Given the description of an element on the screen output the (x, y) to click on. 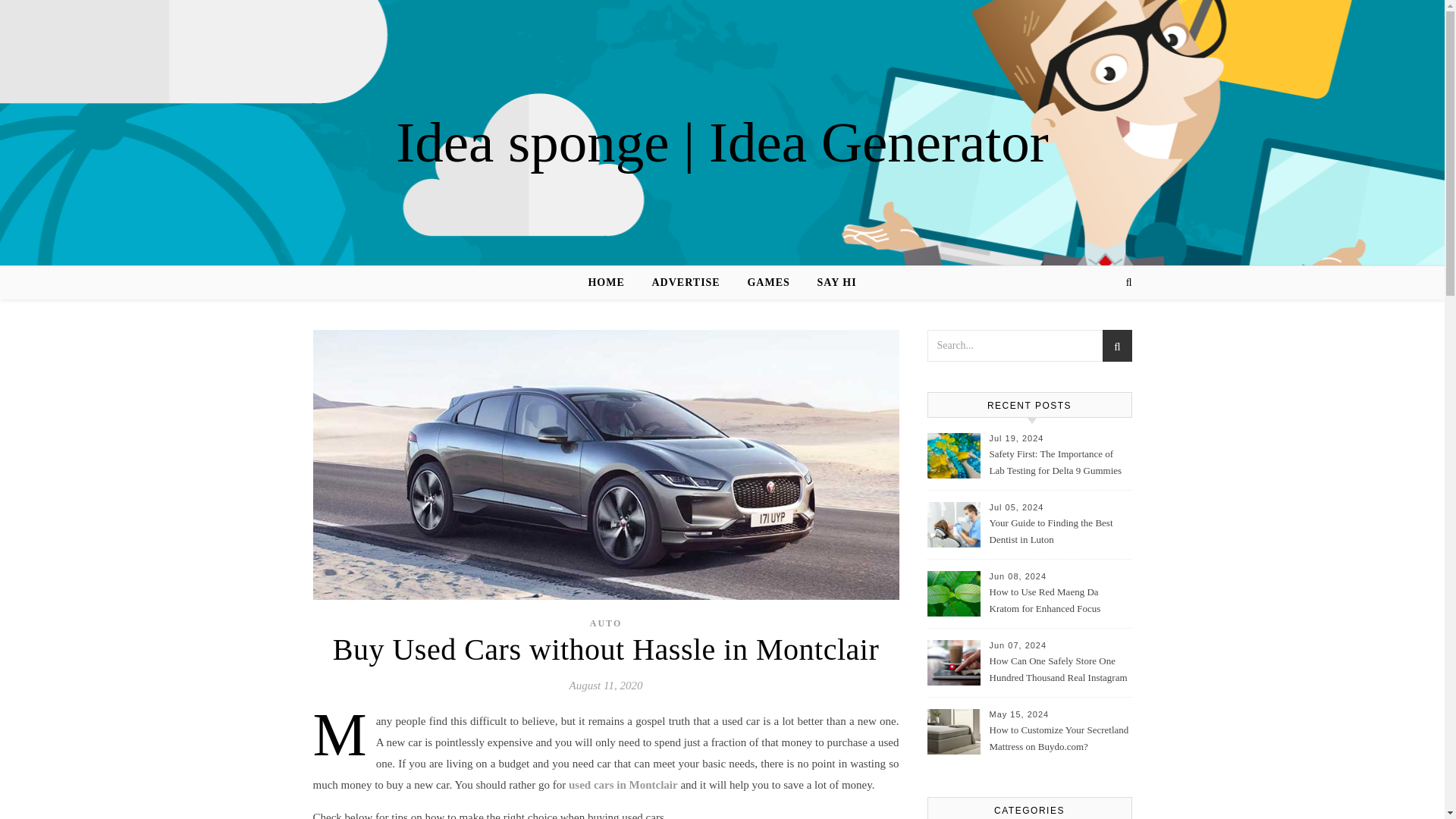
How to Use Red Maeng Da Kratom for Enhanced Focus (1058, 601)
SAY HI (831, 282)
used cars in Montclair (623, 784)
Your Guide to Finding the Best Dentist in Luton (1058, 532)
GAMES (768, 282)
HOME (612, 282)
AUTO (605, 623)
ADVERTISE (686, 282)
How to Customize Your Secretland Mattress on Buydo.com? (1058, 738)
